Given the description of an element on the screen output the (x, y) to click on. 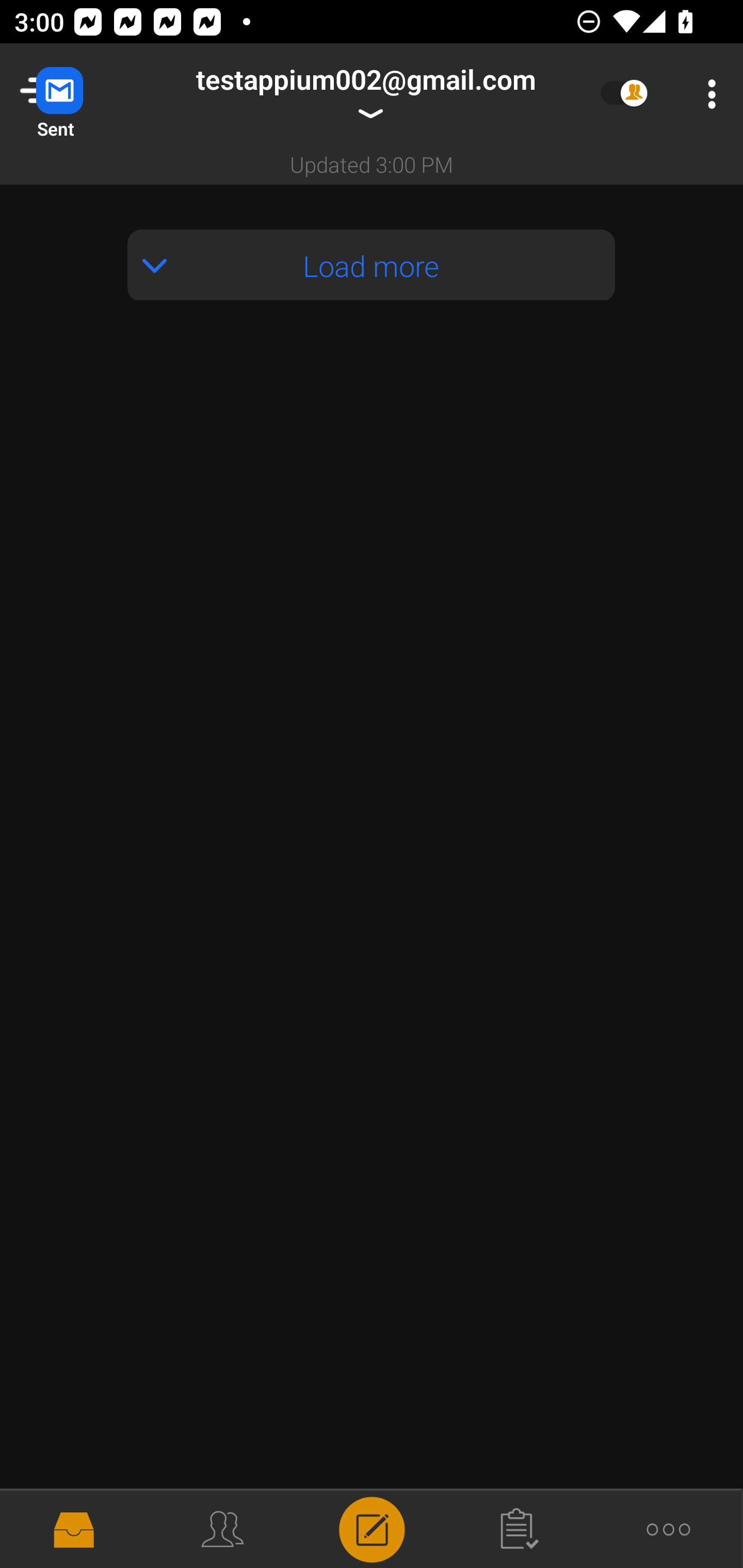
Navigate up (81, 93)
testappium002@gmail.com (365, 93)
More Options (706, 93)
Updated 3:00 PM (371, 164)
Load more (371, 263)
